Given the description of an element on the screen output the (x, y) to click on. 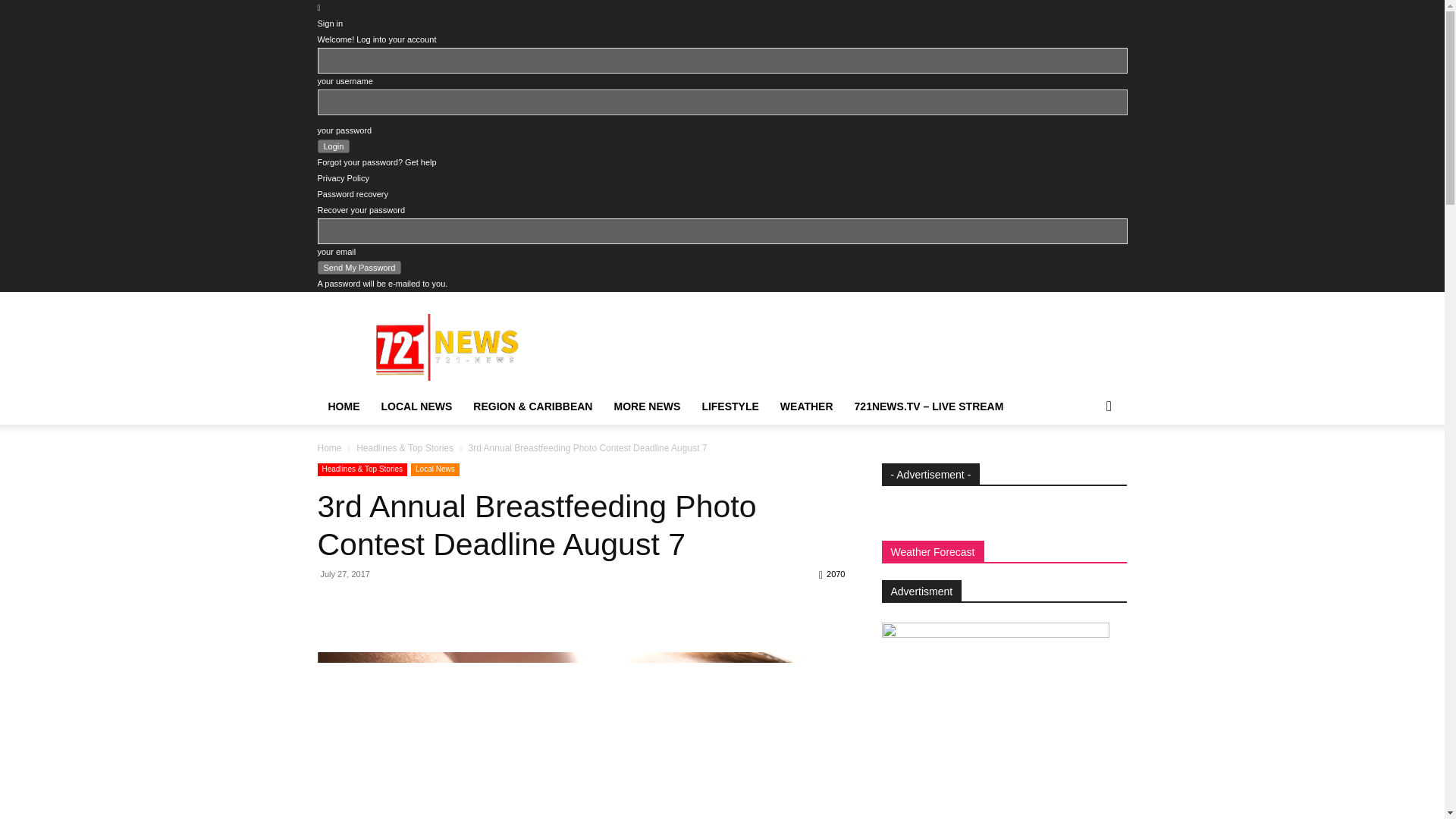
Login (333, 146)
Privacy Policy (342, 177)
Forgot your password? Get help (376, 162)
Send My Password (359, 267)
